Given the description of an element on the screen output the (x, y) to click on. 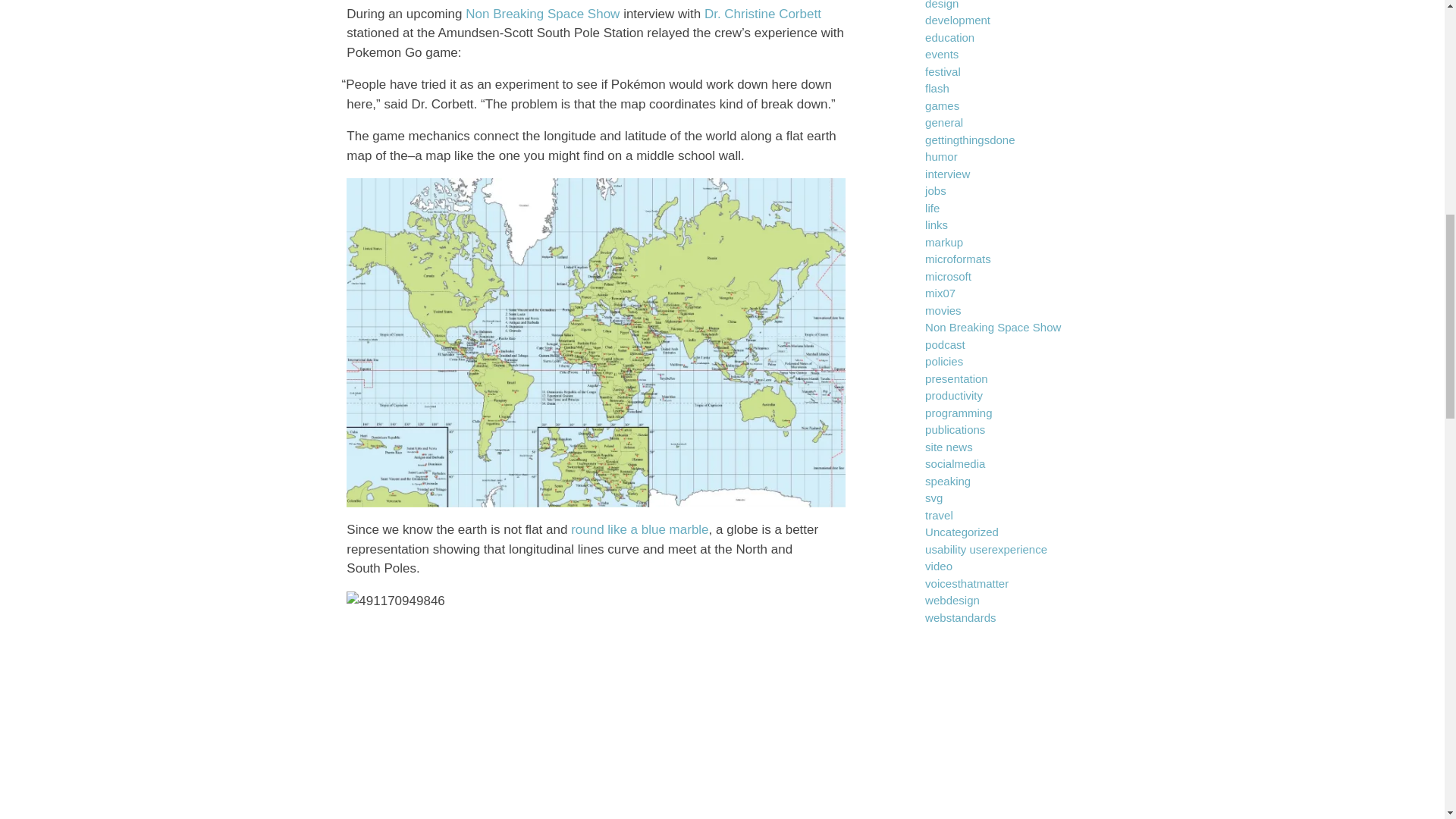
Non Breaking Space Show (542, 13)
round like a blue marble (638, 529)
Dr. Christine Corbett (762, 13)
